Given the description of an element on the screen output the (x, y) to click on. 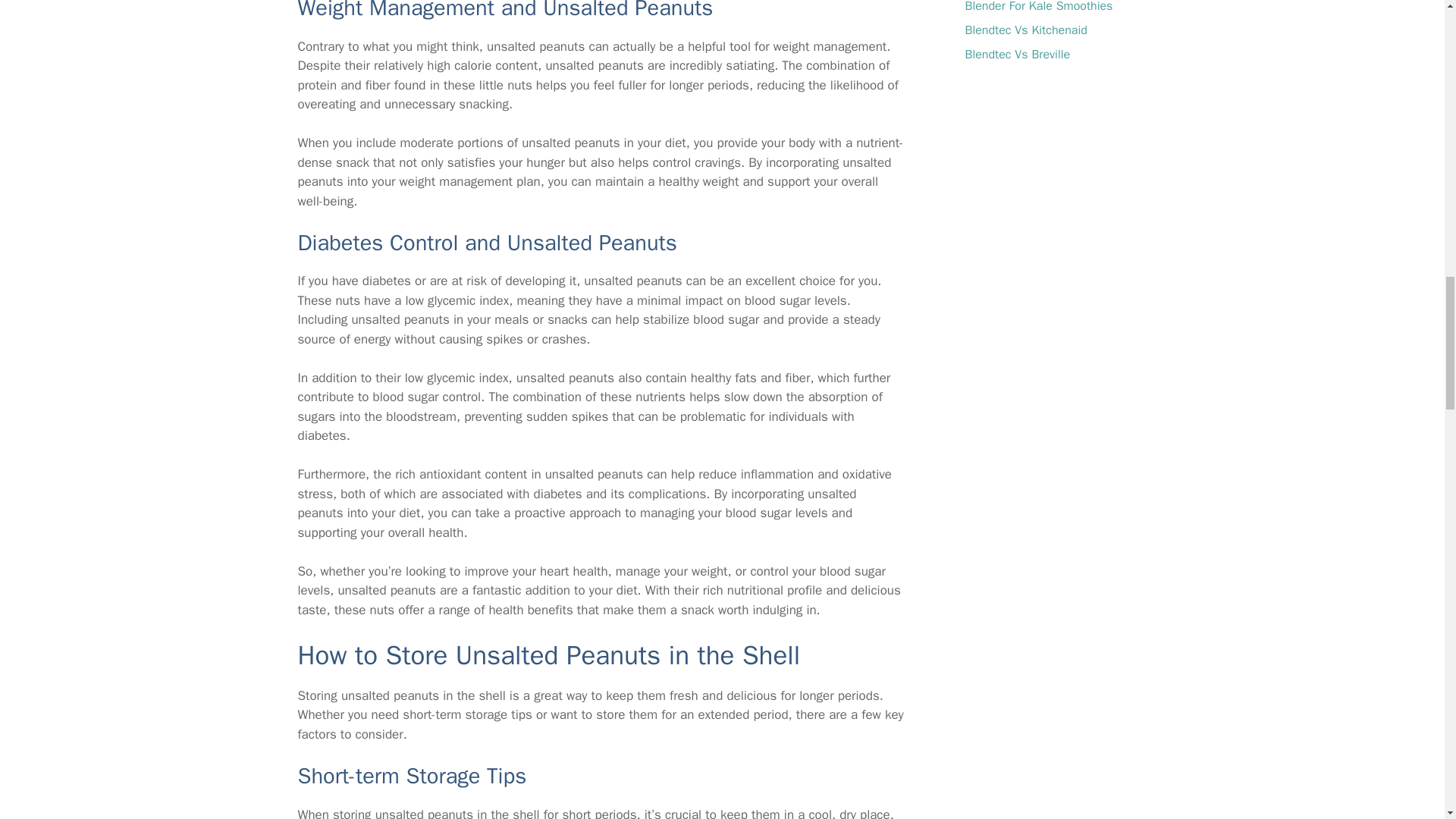
Blender For Kale Smoothies (1037, 6)
Blendtec Vs Kitchenaid (1024, 29)
Blendtec Vs Breville (1016, 54)
